Given the description of an element on the screen output the (x, y) to click on. 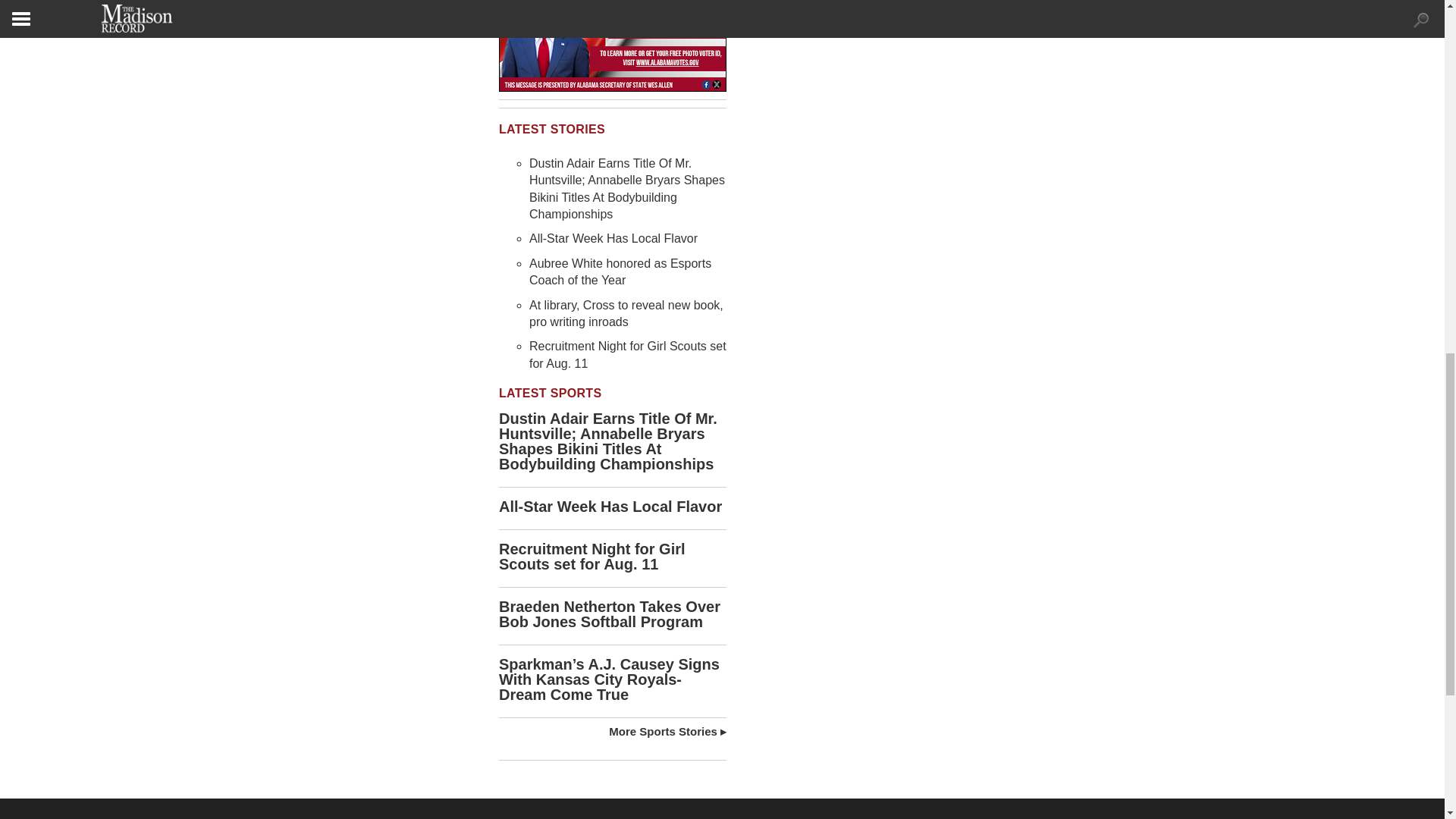
At library, Cross to reveal new book, pro writing inroads (626, 313)
All-Star Week Has Local Flavor (613, 237)
Aubree White honored as Esports Coach of the Year (620, 271)
Voter ID 300x250 (612, 45)
